Given the description of an element on the screen output the (x, y) to click on. 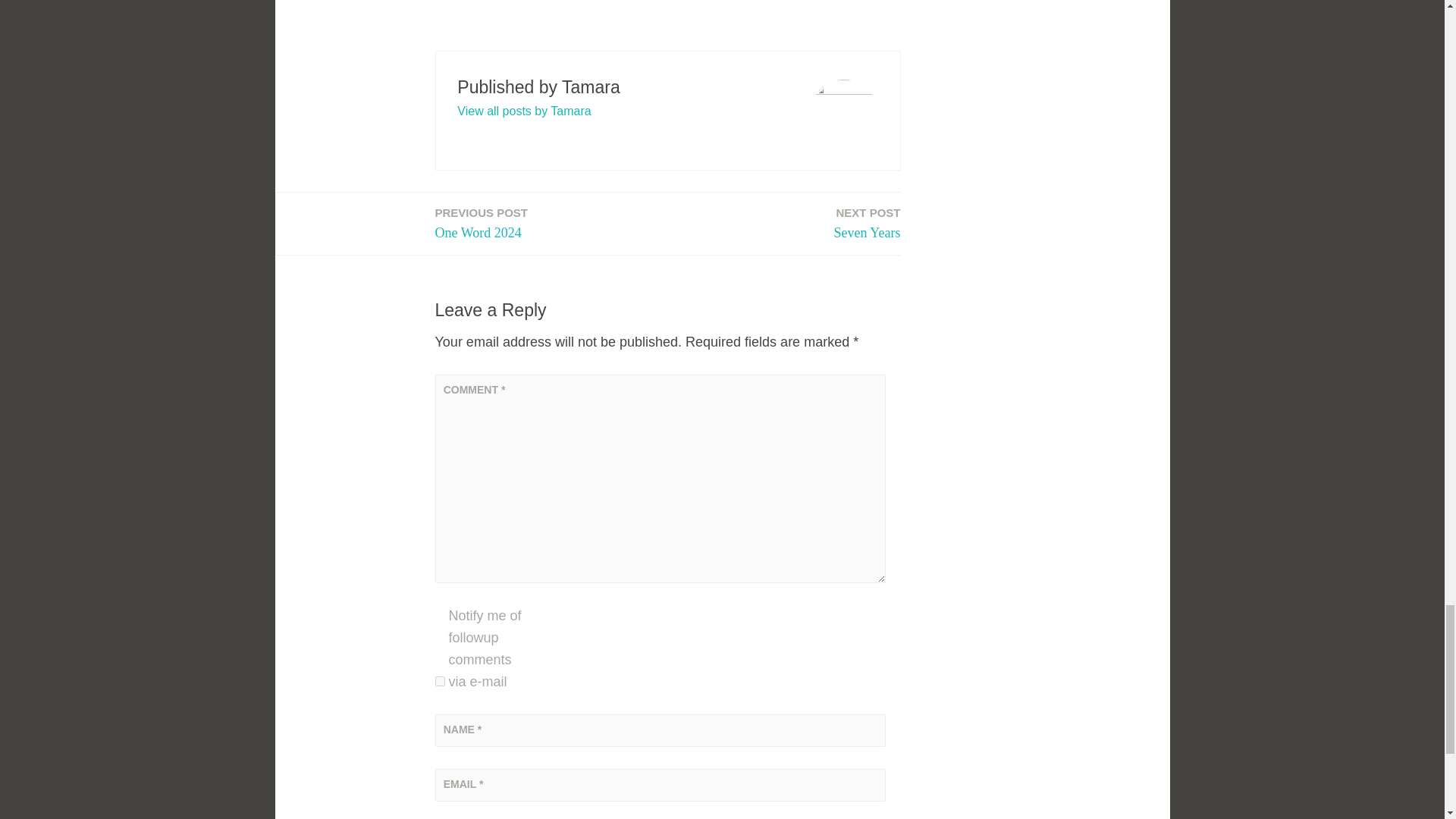
View all posts by Tamara (524, 110)
subscribe (867, 223)
